Given the description of an element on the screen output the (x, y) to click on. 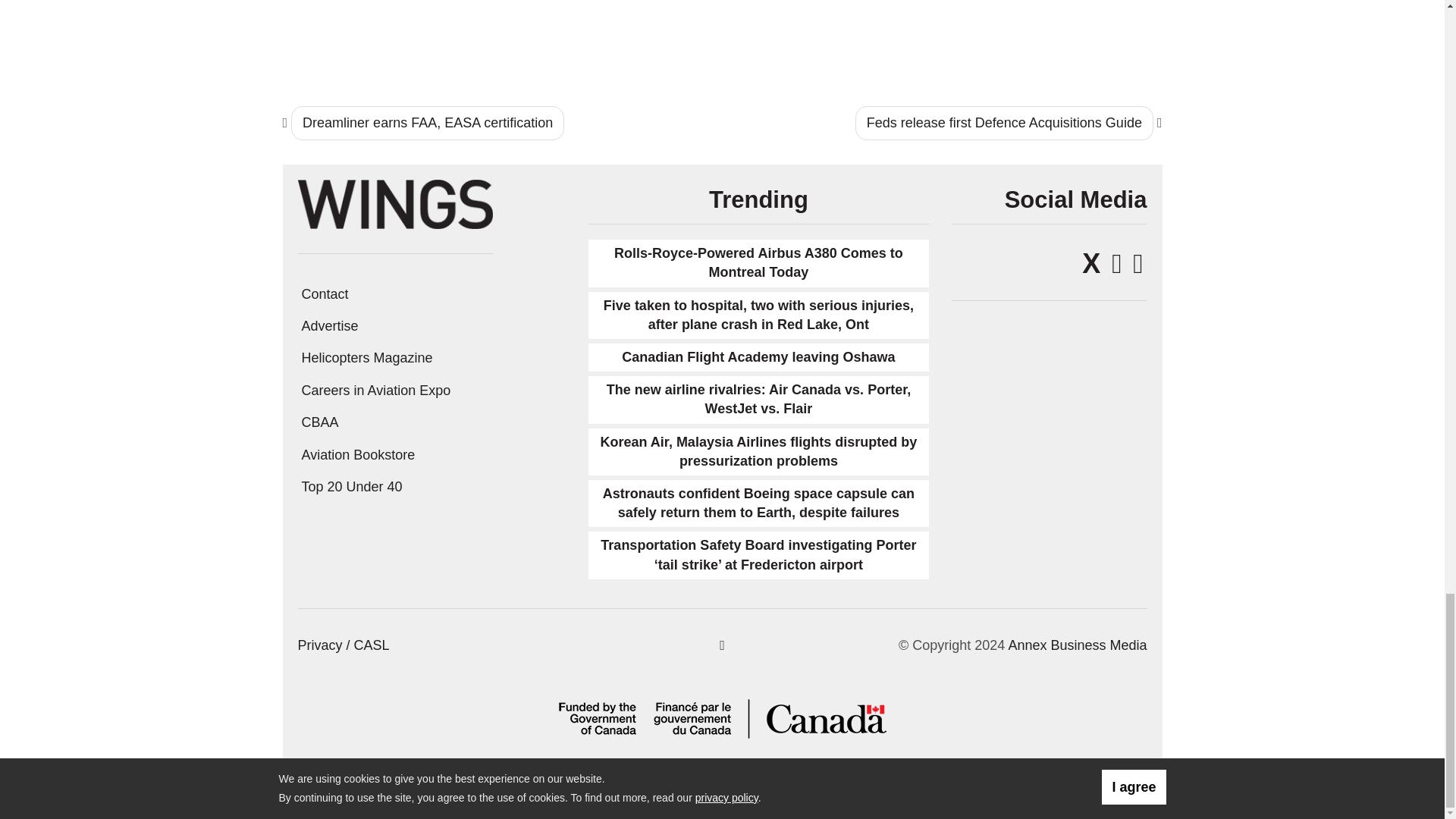
Wings Magazine (395, 202)
3rd party ad content (1060, 37)
Annex Business Media (1077, 645)
